Given the description of an element on the screen output the (x, y) to click on. 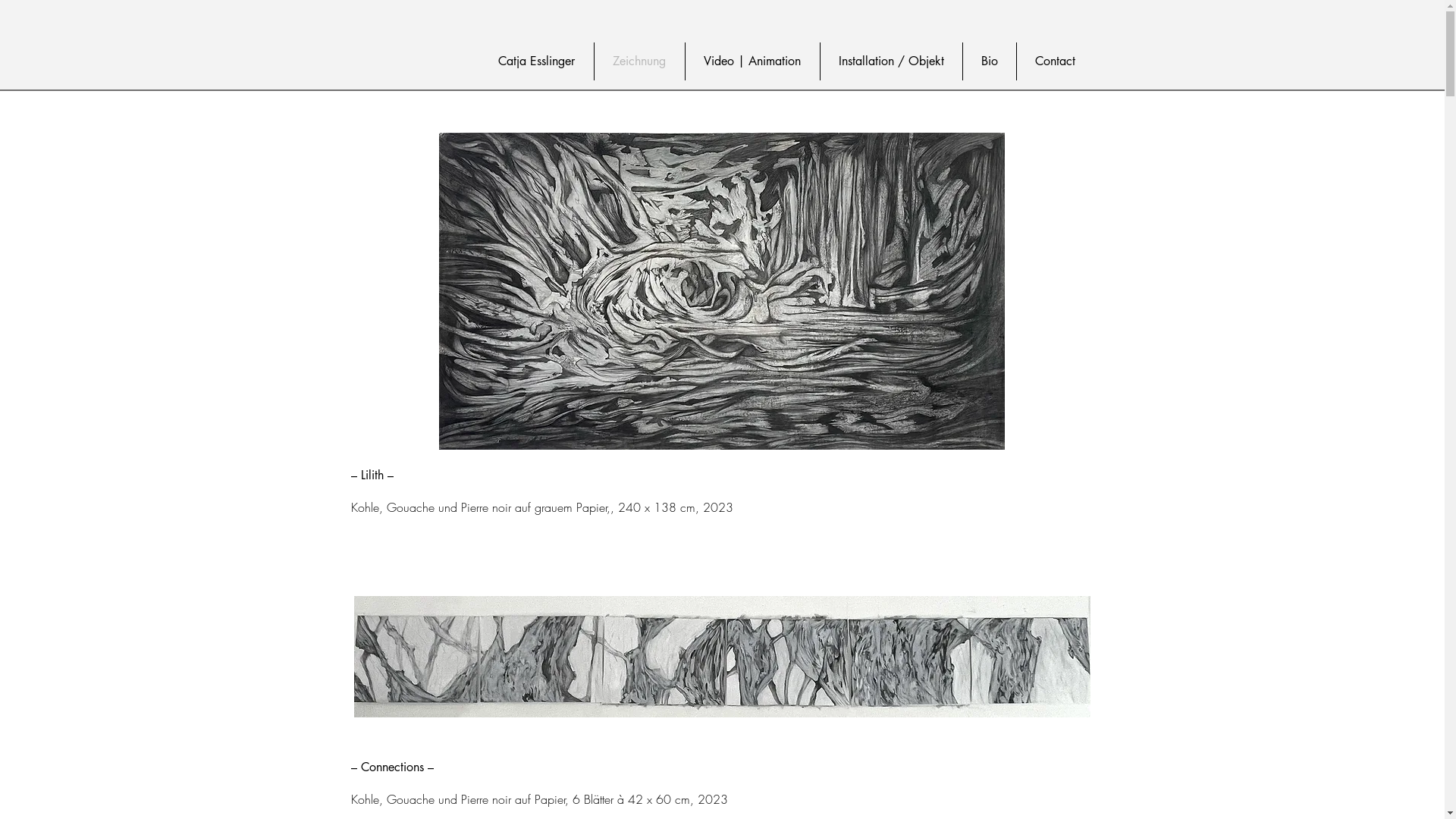
Video | Animation Element type: text (752, 61)
Installation / Objekt Element type: text (891, 61)
Zeichnung Element type: text (639, 61)
Catja Esslinger Element type: text (536, 61)
Contact Element type: text (1054, 61)
Bio Element type: text (989, 61)
